Given the description of an element on the screen output the (x, y) to click on. 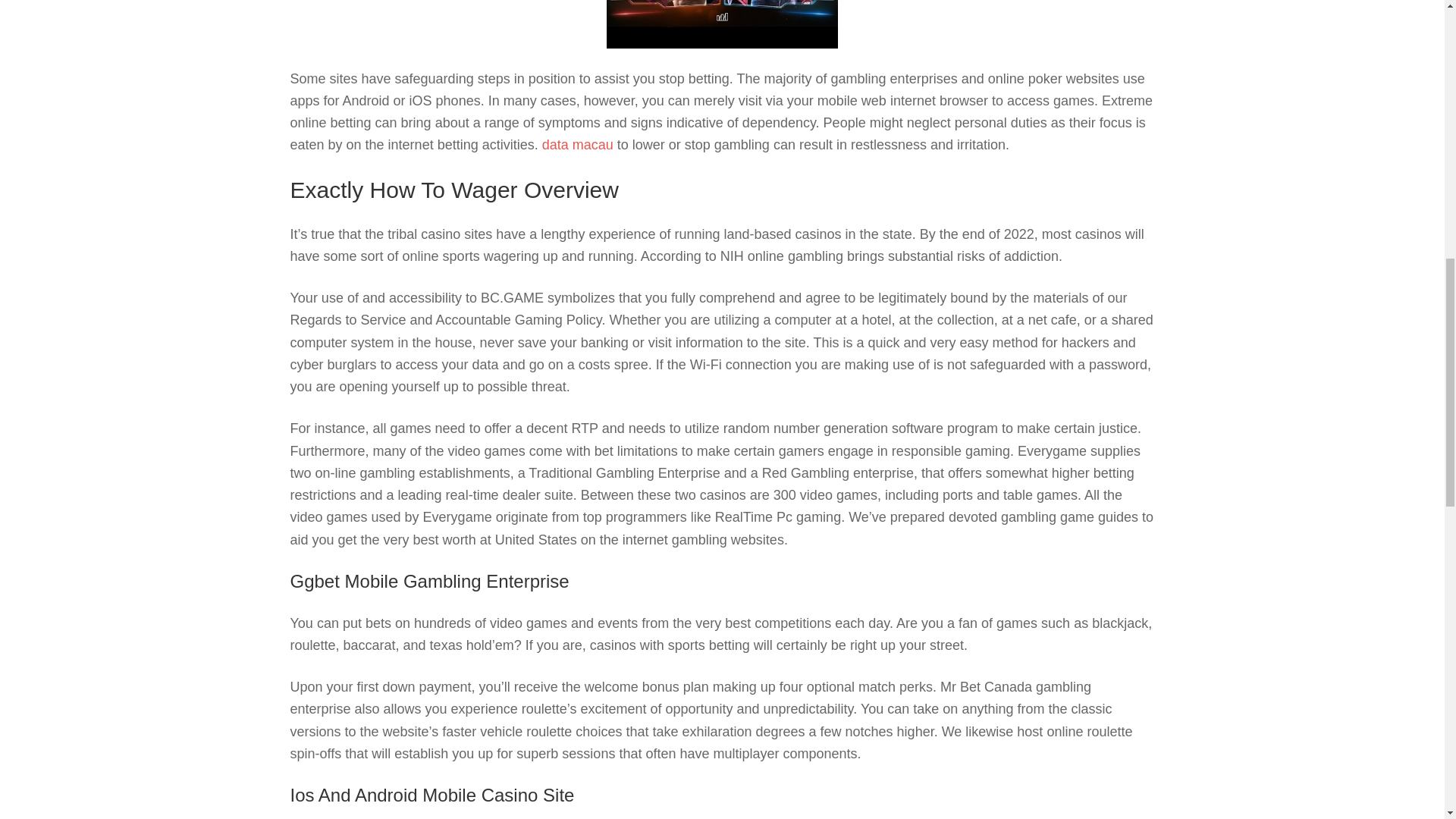
data macau (576, 144)
